Given the description of an element on the screen output the (x, y) to click on. 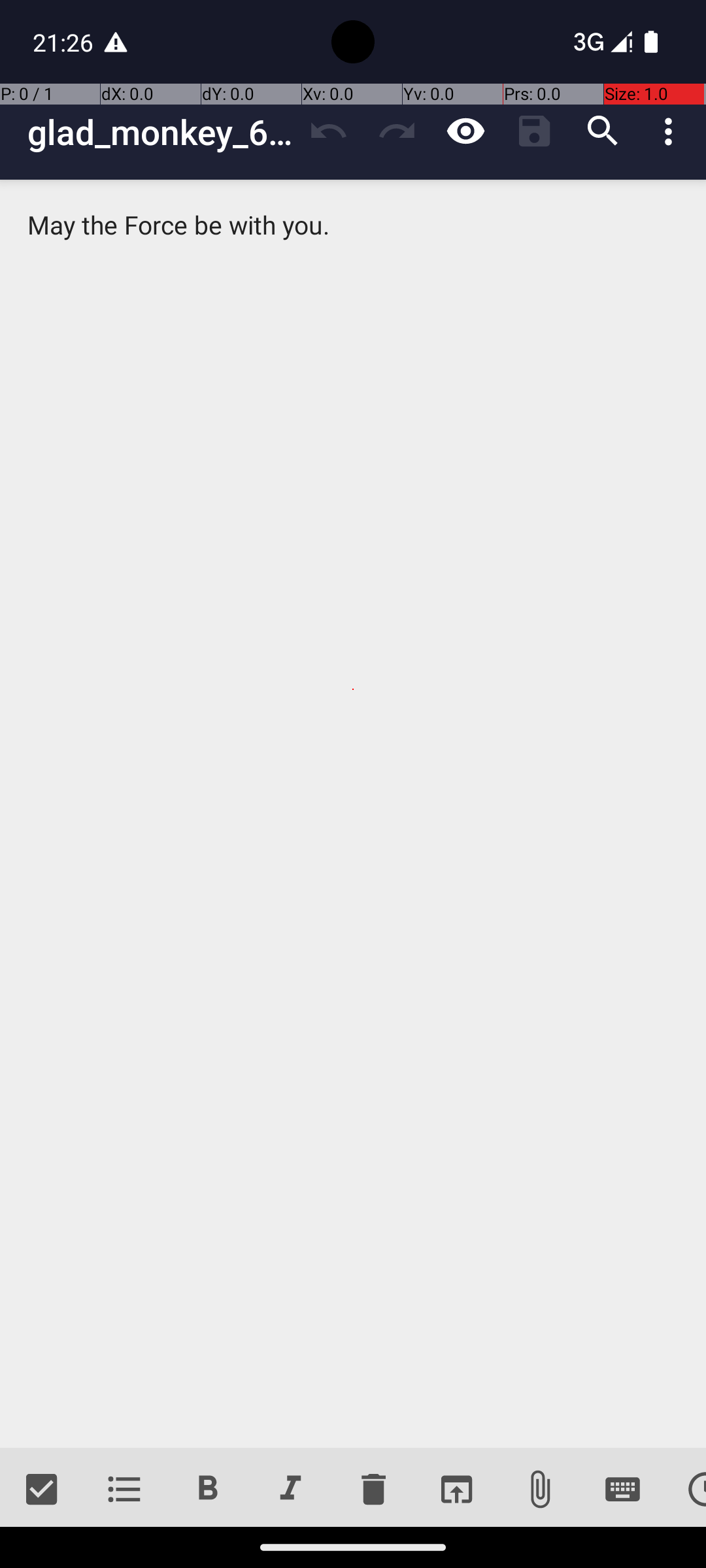
glad_monkey_6LHm Element type: android.widget.TextView (160, 131)
May the Force be with you.
 Element type: android.widget.EditText (353, 813)
21:26 Element type: android.widget.TextView (64, 41)
